Given the description of an element on the screen output the (x, y) to click on. 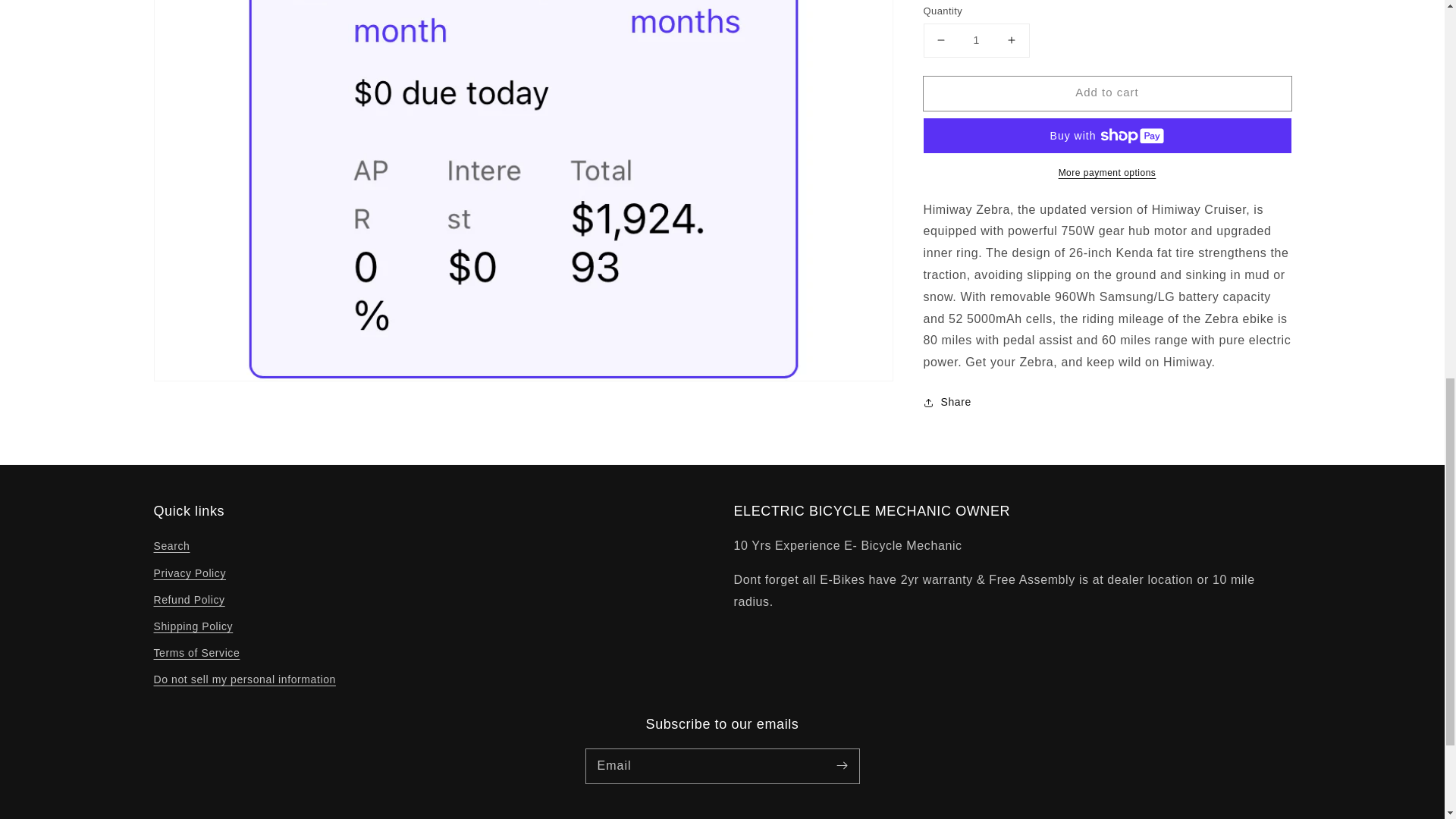
Shipping Policy (192, 626)
Privacy Policy (188, 572)
Do not sell my personal information (243, 679)
Search (170, 548)
Terms of Service (196, 652)
Refund Policy (188, 600)
